Given the description of an element on the screen output the (x, y) to click on. 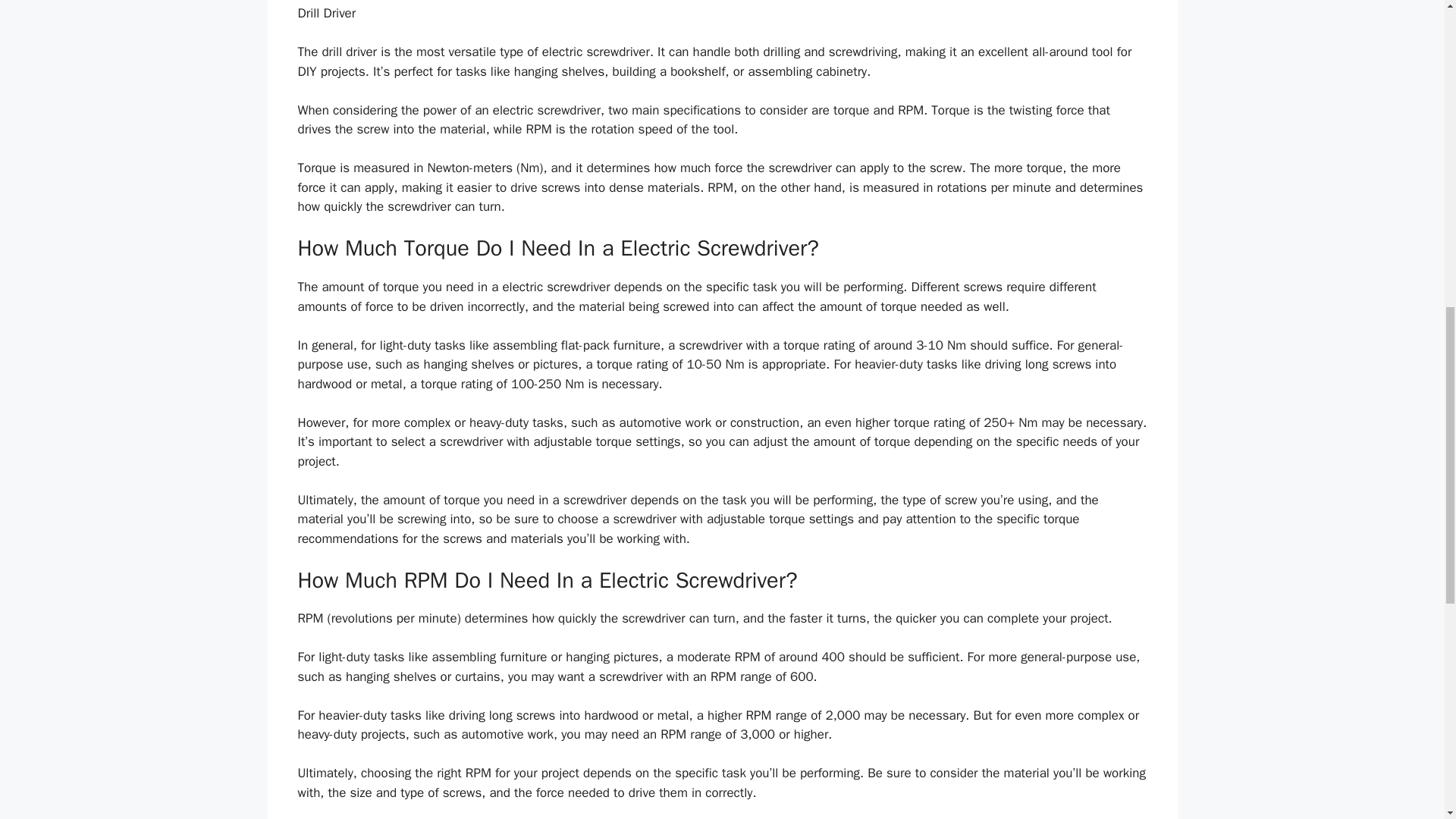
Scroll back to top (1406, 720)
